Given the description of an element on the screen output the (x, y) to click on. 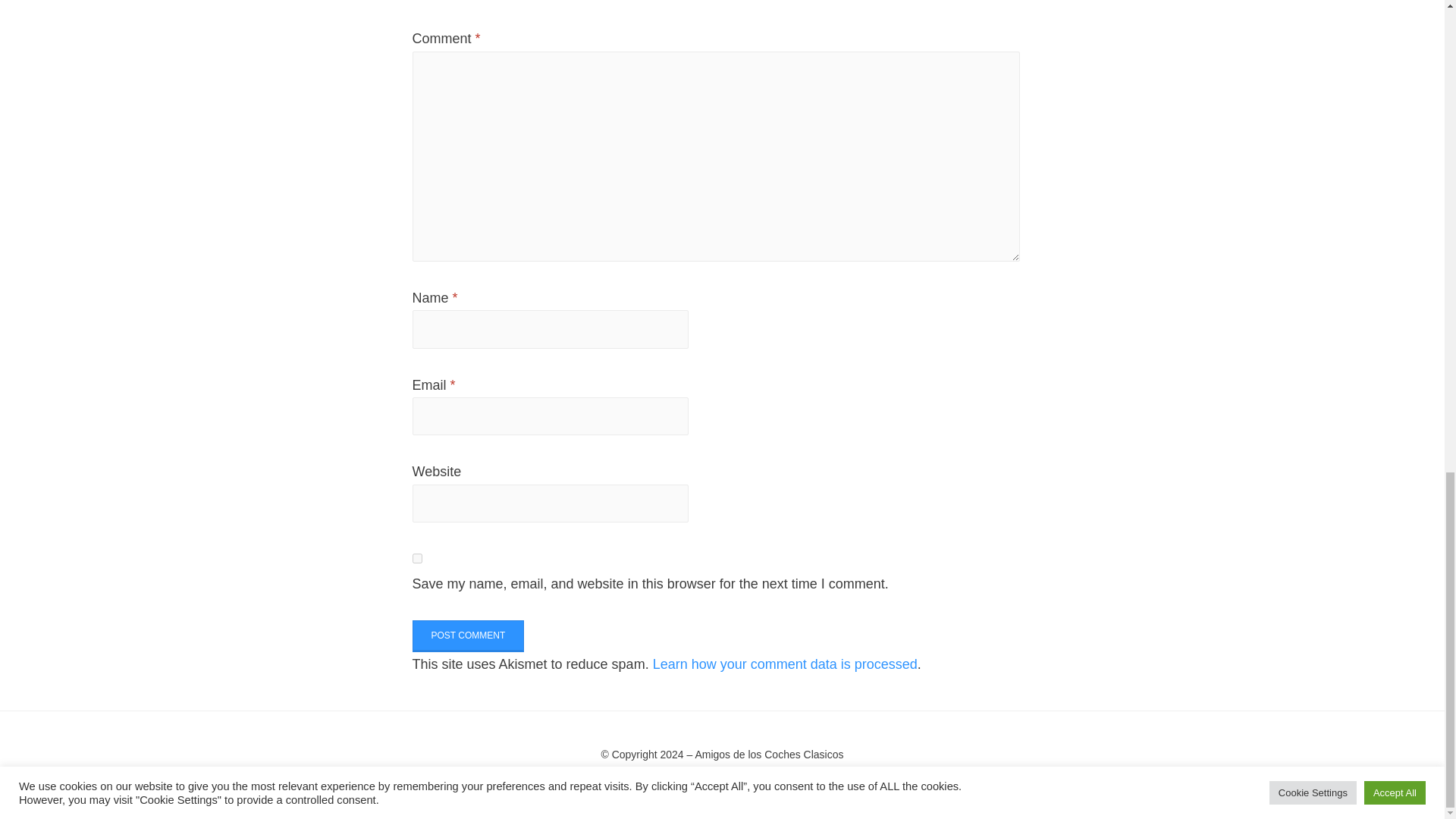
Amigos de los Coches Clasicos (768, 754)
Alkane Theme (640, 775)
yes (417, 558)
WordPress (809, 775)
Post Comment (468, 635)
Alkane Theme (640, 775)
WordPress (809, 775)
Post Comment (468, 635)
Learn how your comment data is processed (784, 663)
